Given the description of an element on the screen output the (x, y) to click on. 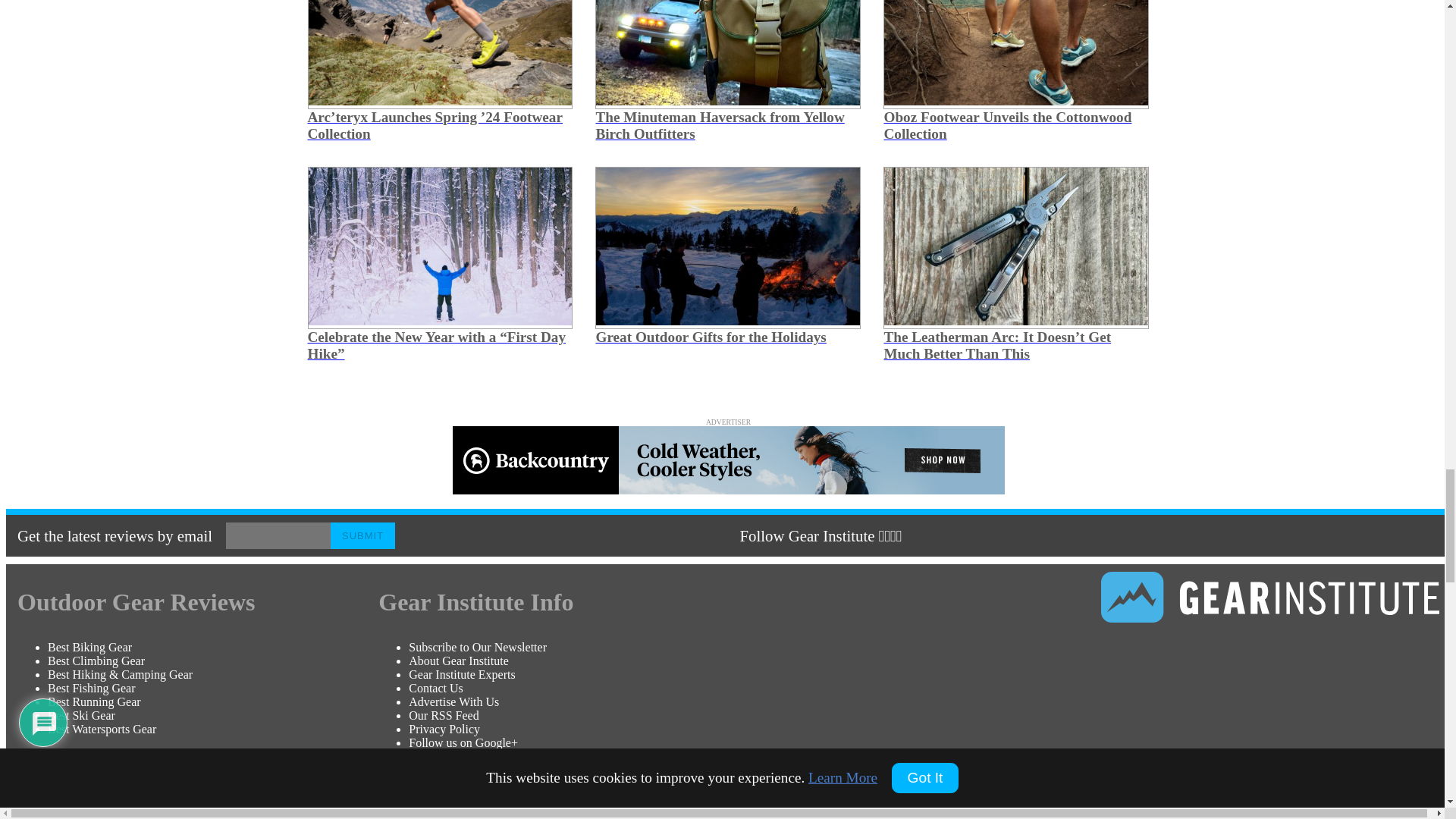
Submit (362, 535)
